Given the description of an element on the screen output the (x, y) to click on. 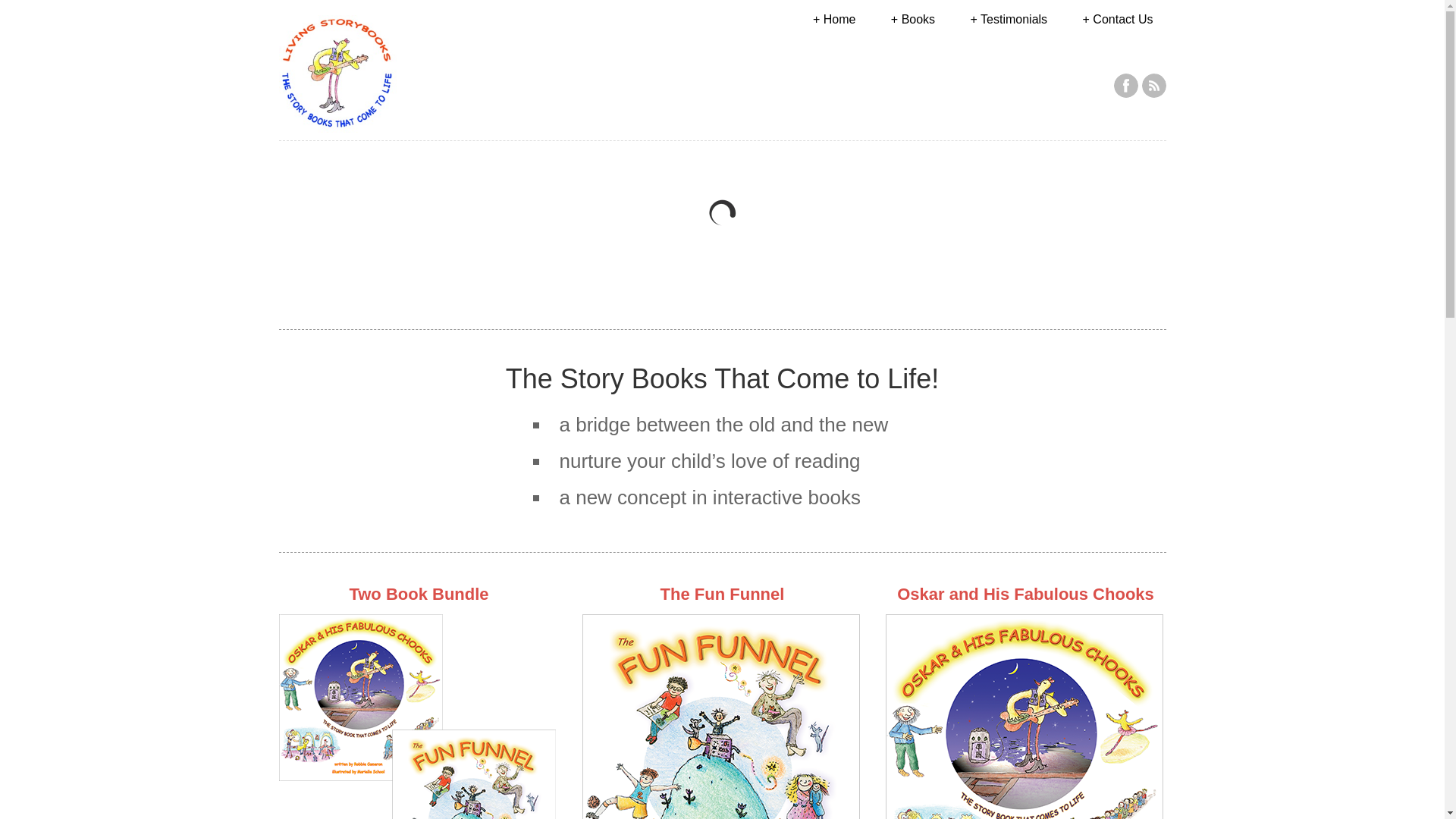
RSS Element type: text (1154, 85)
+ Contact Us Element type: text (1118, 19)
+ Home Element type: text (834, 19)
Facebook Element type: text (1125, 85)
+ Books Element type: text (912, 19)
+ Testimonials Element type: text (1008, 19)
